Given the description of an element on the screen output the (x, y) to click on. 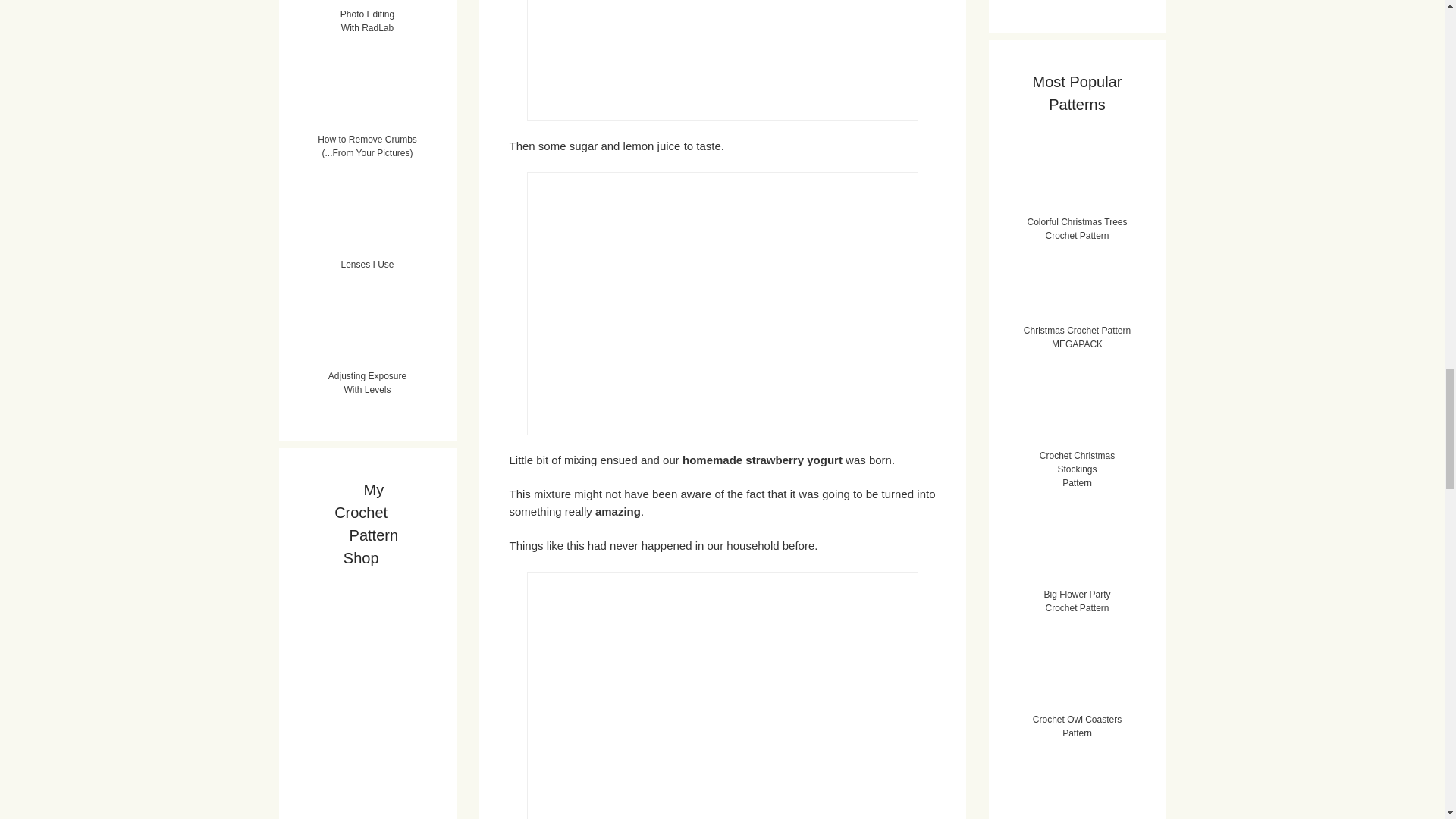
frozen-strawberry-yogurt (721, 695)
frozen-yogurt (721, 302)
homemade-popsicle (721, 60)
